Given the description of an element on the screen output the (x, y) to click on. 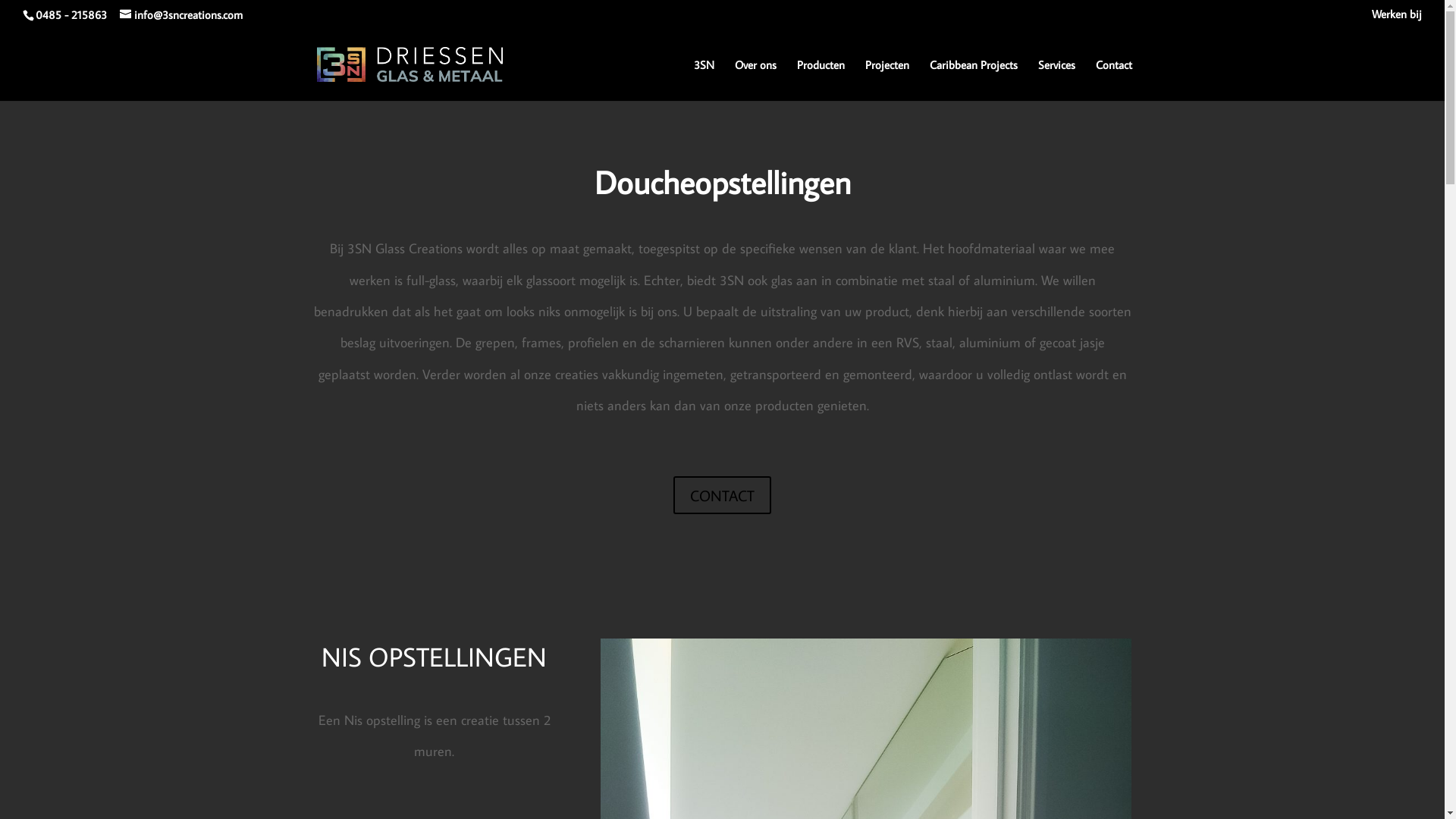
CONTACT Element type: text (722, 495)
Producten Element type: text (820, 79)
3SN Element type: text (703, 79)
Contact Element type: text (1113, 79)
Caribbean Projects Element type: text (973, 79)
Werken bij Element type: text (1396, 18)
Over ons Element type: text (754, 79)
Services Element type: text (1055, 79)
Projecten Element type: text (886, 79)
info@3sncreations.com Element type: text (180, 14)
